Given the description of an element on the screen output the (x, y) to click on. 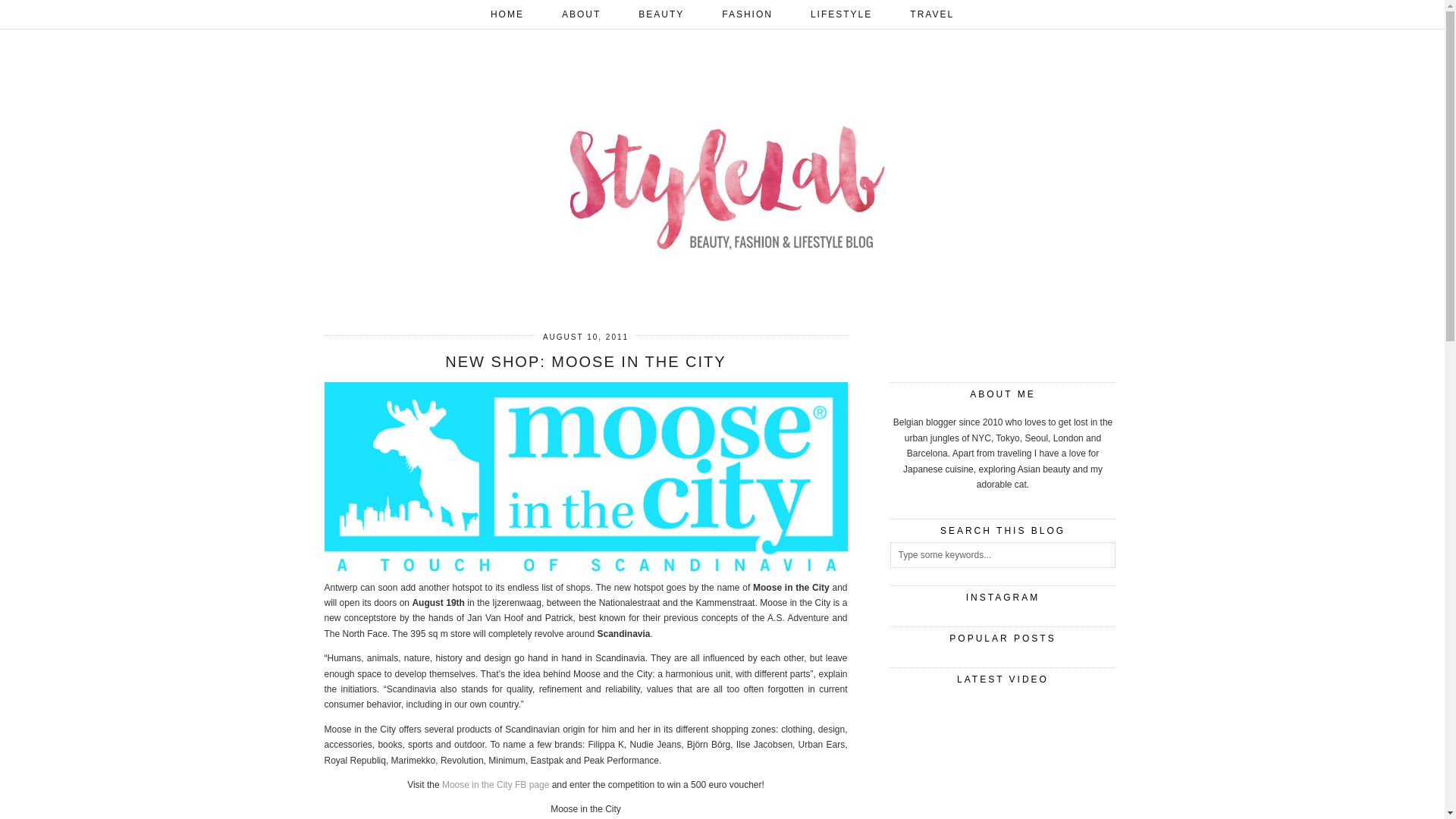
About StyleLab (581, 14)
ABOUT (581, 14)
BEAUTY (661, 14)
LIFESTYLE (841, 14)
Moose in the City FB page (495, 784)
Moose In The City Logo (585, 476)
TRAVEL (931, 14)
HOME (507, 14)
FASHION (747, 14)
